Given the description of an element on the screen output the (x, y) to click on. 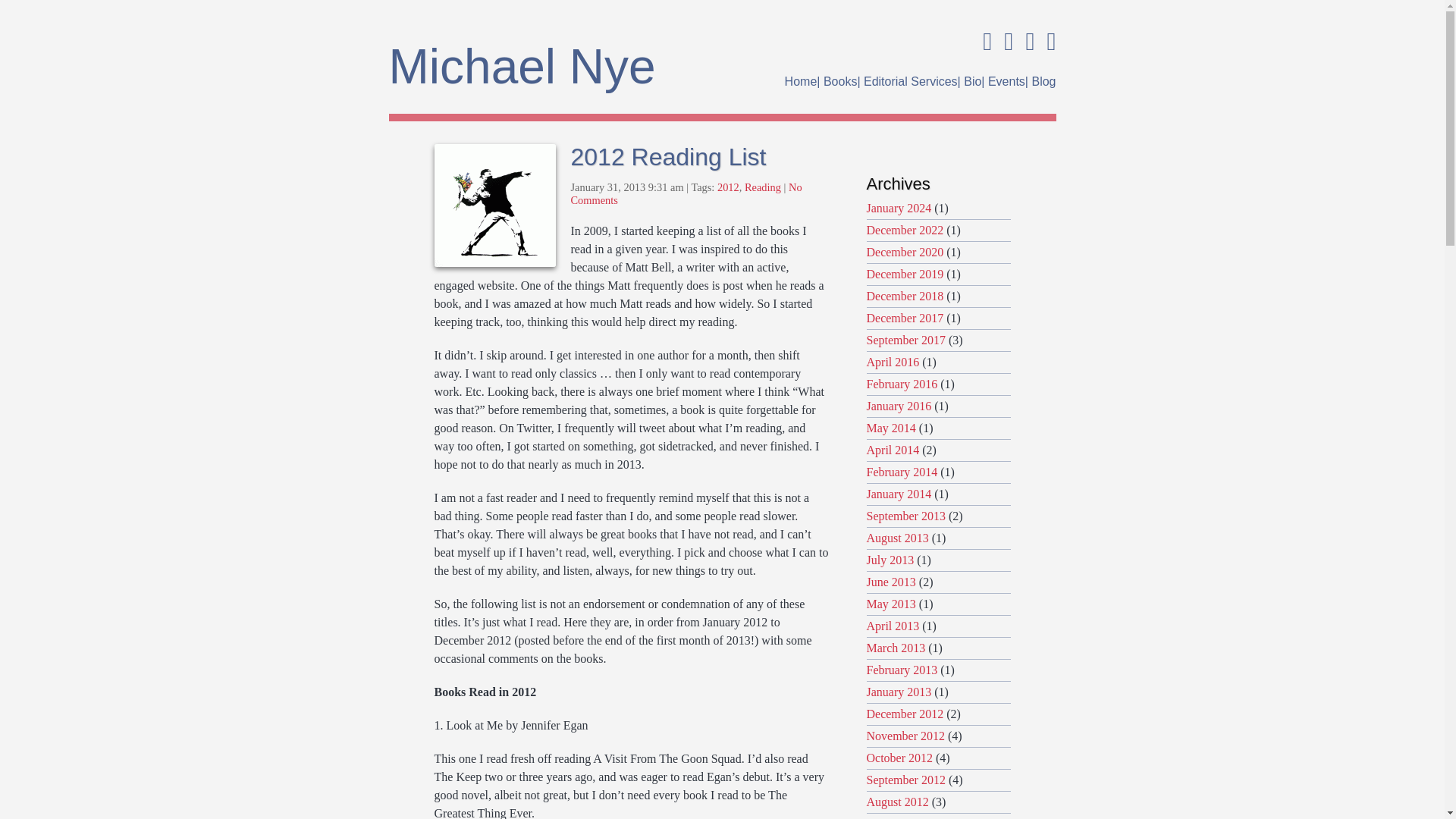
February 2016 (901, 383)
Home (800, 80)
August 2013 (897, 537)
April 2016 (892, 361)
December 2017 (904, 318)
Blog (1042, 80)
Michael Nye (539, 66)
Bio (972, 80)
May 2014 (890, 427)
January 2016 (898, 405)
2012 (728, 186)
January 2014 (898, 493)
December 2018 (904, 295)
January 2024 (898, 207)
December 2022 (904, 229)
